Given the description of an element on the screen output the (x, y) to click on. 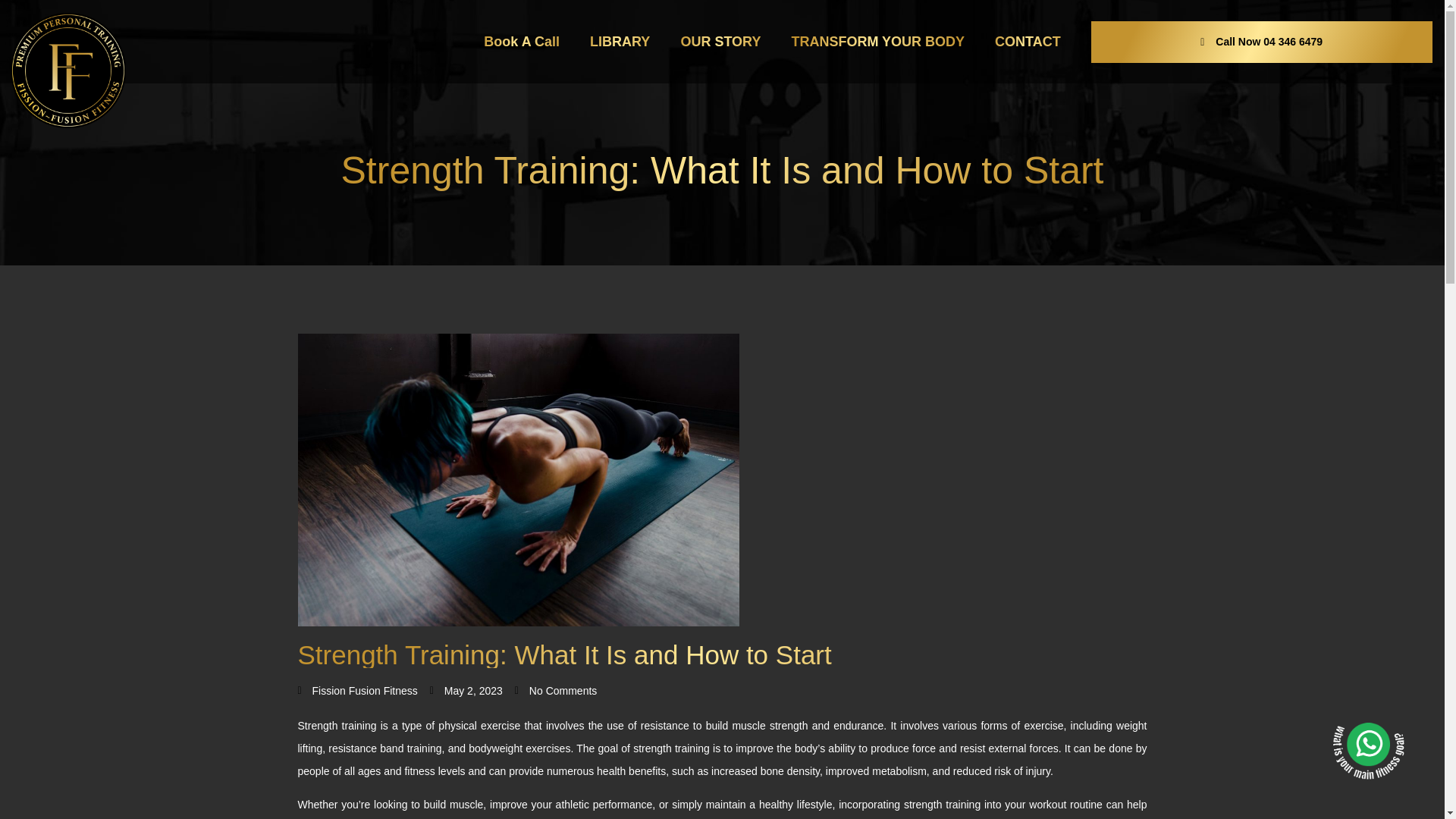
CONTACT (1027, 41)
Book A Call (521, 41)
TRANSFORM YOUR BODY (877, 41)
LIBRARY (620, 41)
Call Now 04 346 6479 (1261, 42)
OUR STORY (720, 41)
